Given the description of an element on the screen output the (x, y) to click on. 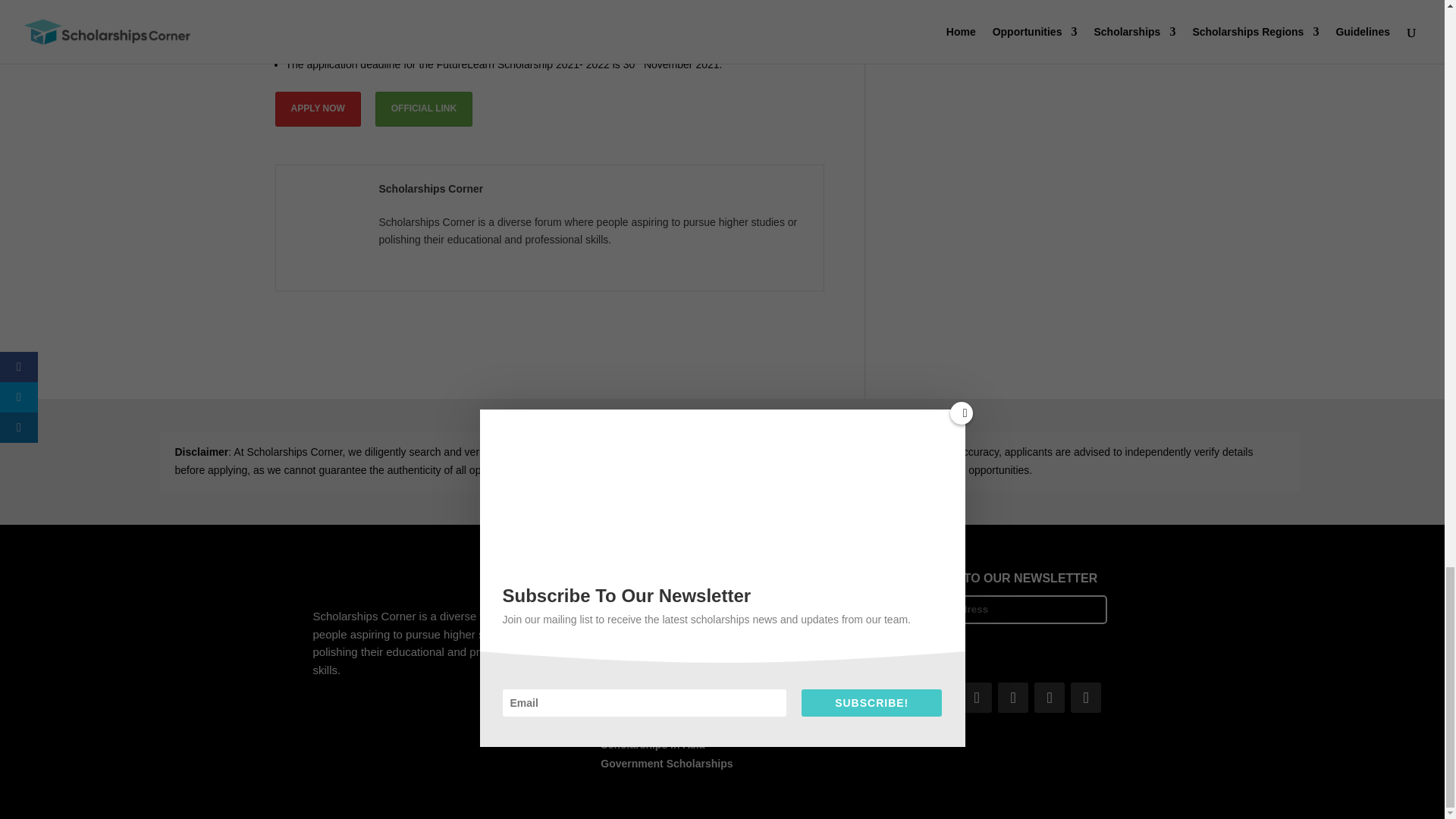
Ai file -02 (404, 579)
Follow on LinkedIn (1012, 697)
Follow on Telegram (1048, 697)
Follow on Instagram (975, 697)
Follow on Youtube (1085, 697)
Follow on Facebook (903, 697)
Follow on X (939, 697)
Subscribe (919, 645)
